Given the description of an element on the screen output the (x, y) to click on. 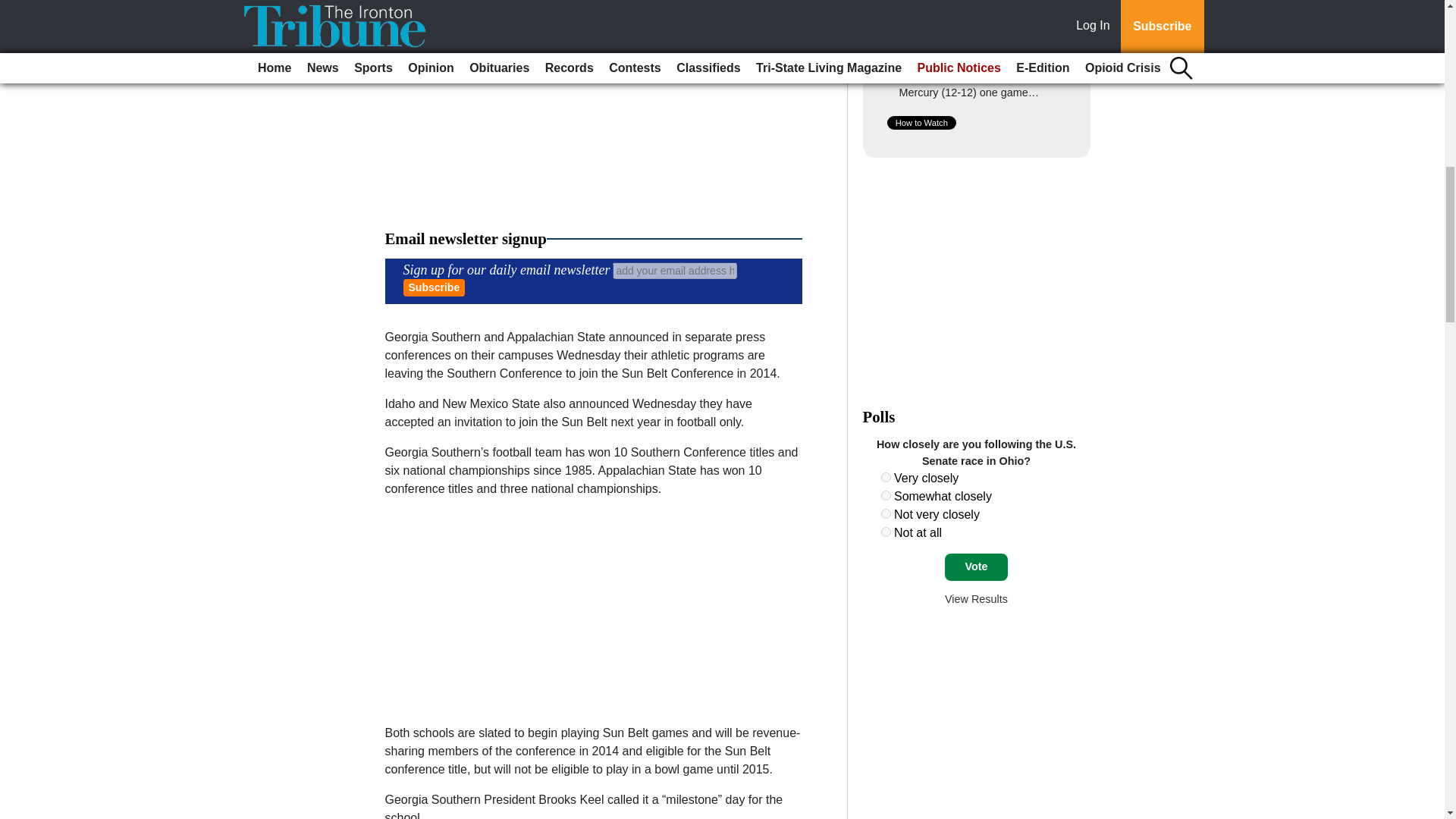
Subscribe (434, 287)
1433 (885, 495)
1434 (885, 513)
1432 (885, 477)
Subscribe (434, 287)
How to Watch (921, 122)
View Results (975, 598)
View Results Of This Poll (975, 598)
   Vote    (975, 566)
1435 (885, 532)
